Given the description of an element on the screen output the (x, y) to click on. 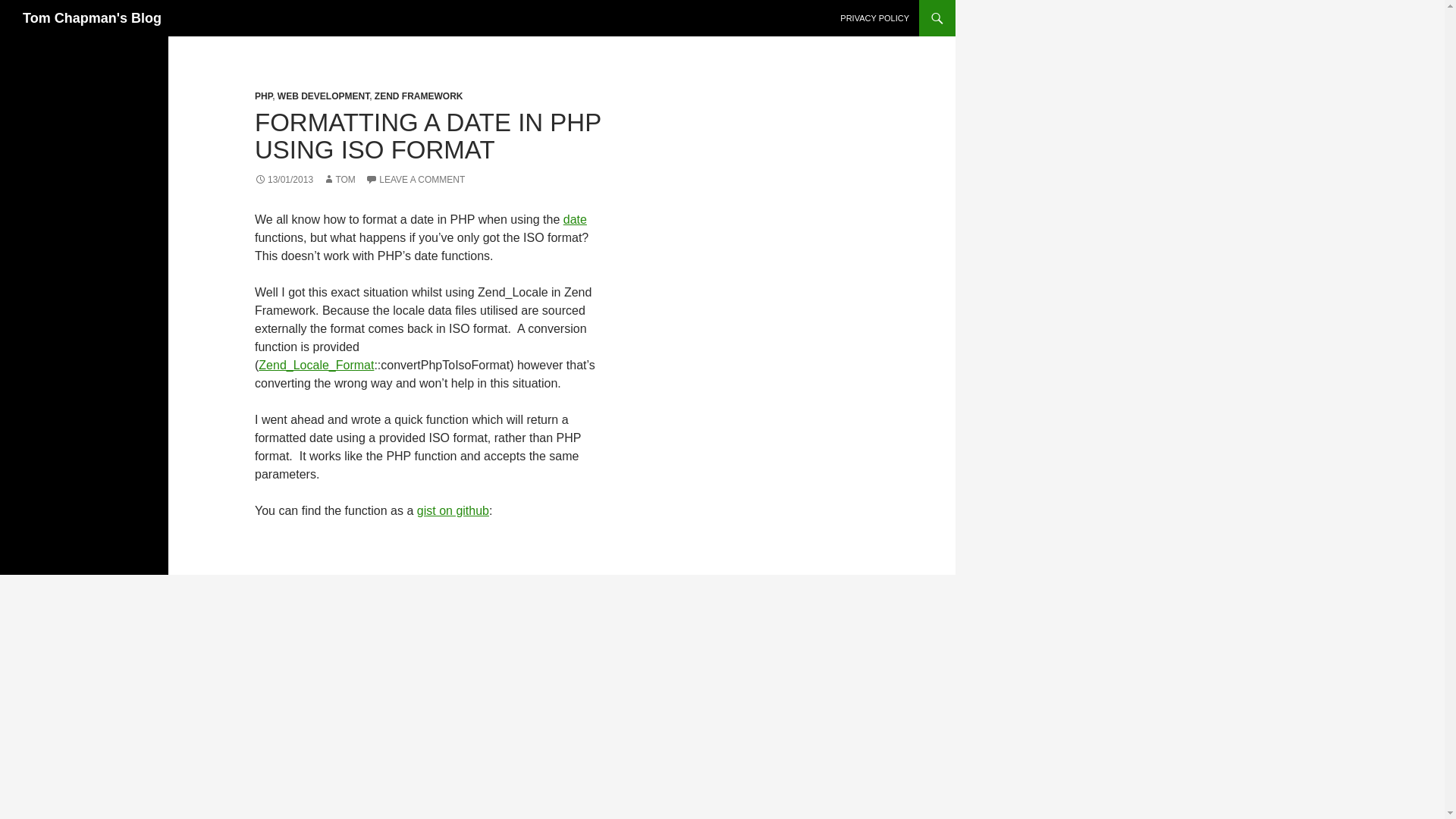
WEB DEVELOPMENT (323, 95)
PHP (263, 95)
gist on github (452, 510)
LEAVE A COMMENT (414, 179)
PRIVACY POLICY (874, 18)
ZEND FRAMEWORK (418, 95)
TOM (339, 179)
Tom Chapman's Blog (92, 18)
date (574, 219)
